Given the description of an element on the screen output the (x, y) to click on. 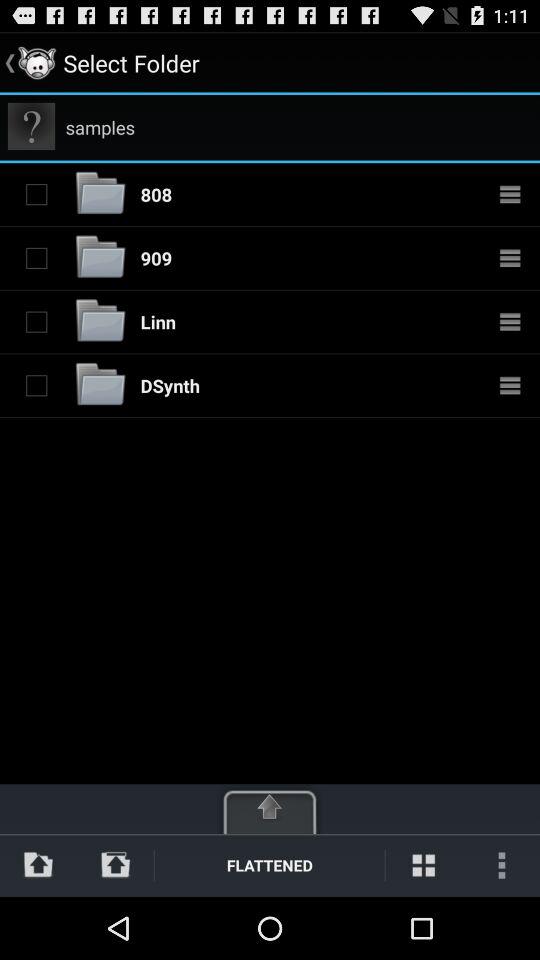
click icon above flattened (269, 807)
